Given the description of an element on the screen output the (x, y) to click on. 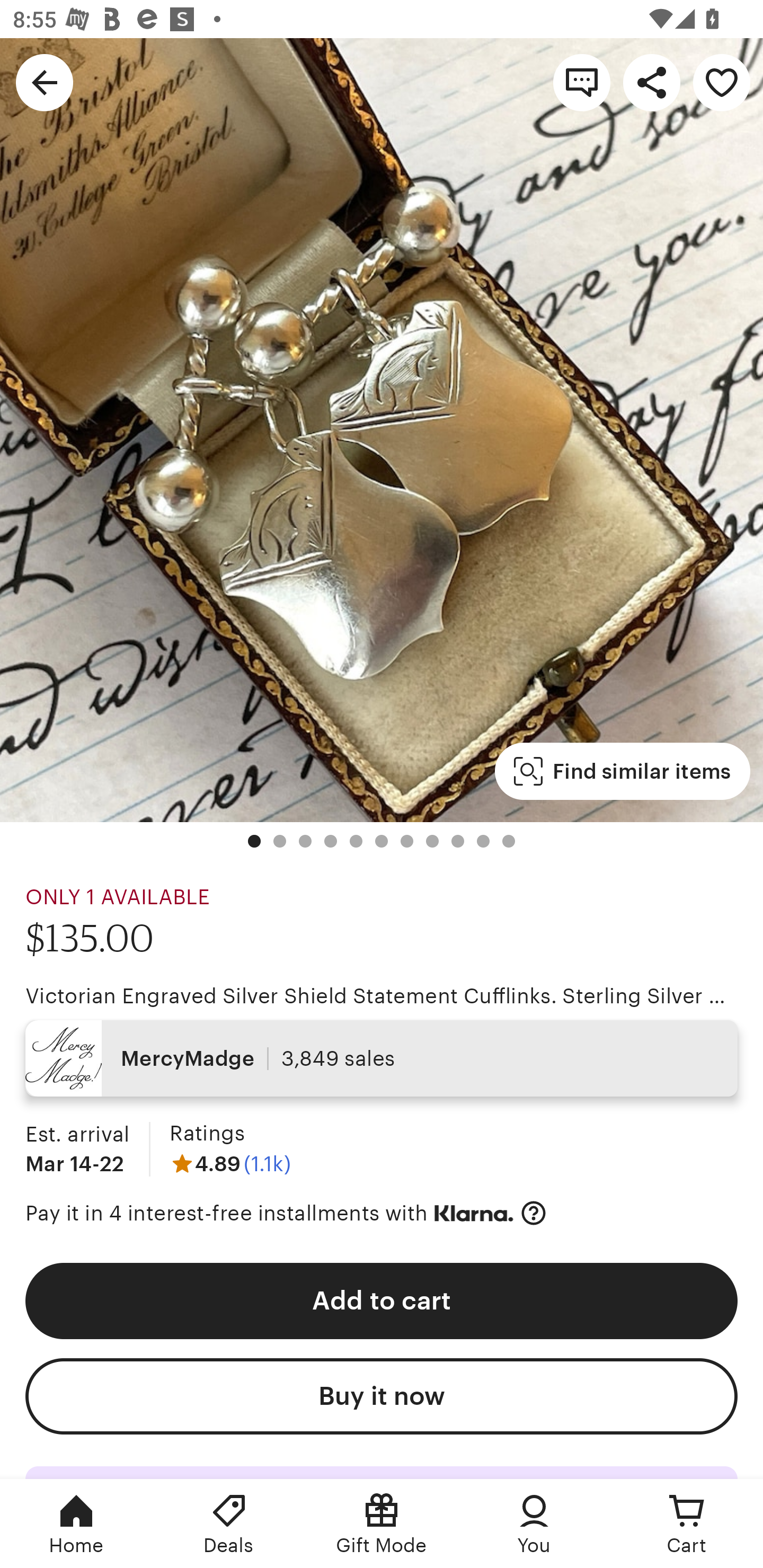
Navigate up (44, 81)
Contact shop (581, 81)
Share (651, 81)
Find similar items (622, 771)
MercyMadge 3,849 sales (381, 1058)
Ratings (206, 1133)
4.89 (1.1k) (230, 1163)
Add to cart (381, 1300)
Buy it now (381, 1395)
Deals (228, 1523)
Gift Mode (381, 1523)
You (533, 1523)
Cart (686, 1523)
